Given the description of an element on the screen output the (x, y) to click on. 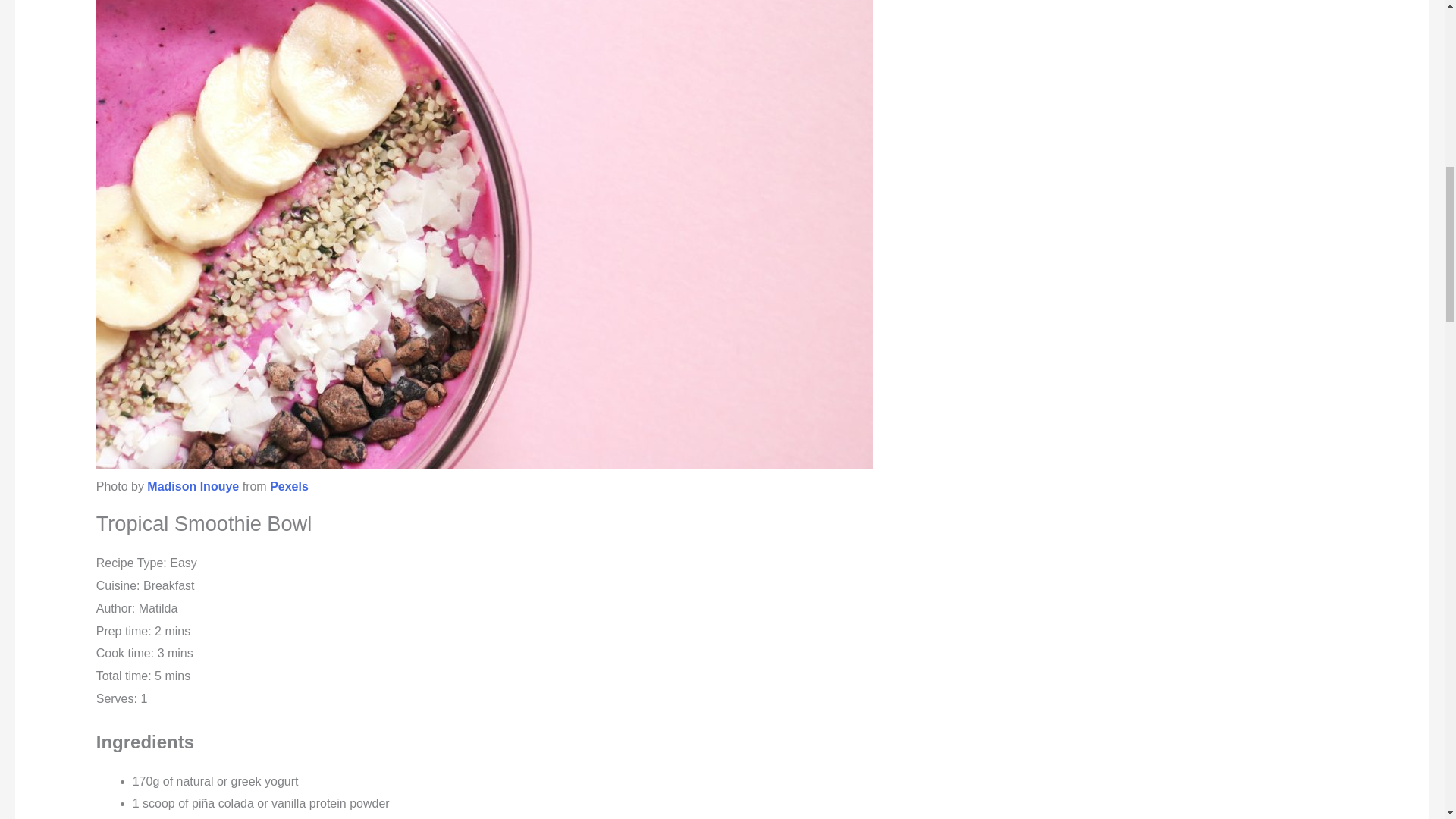
Madison Inouye (192, 486)
Pexels (288, 486)
